Given the description of an element on the screen output the (x, y) to click on. 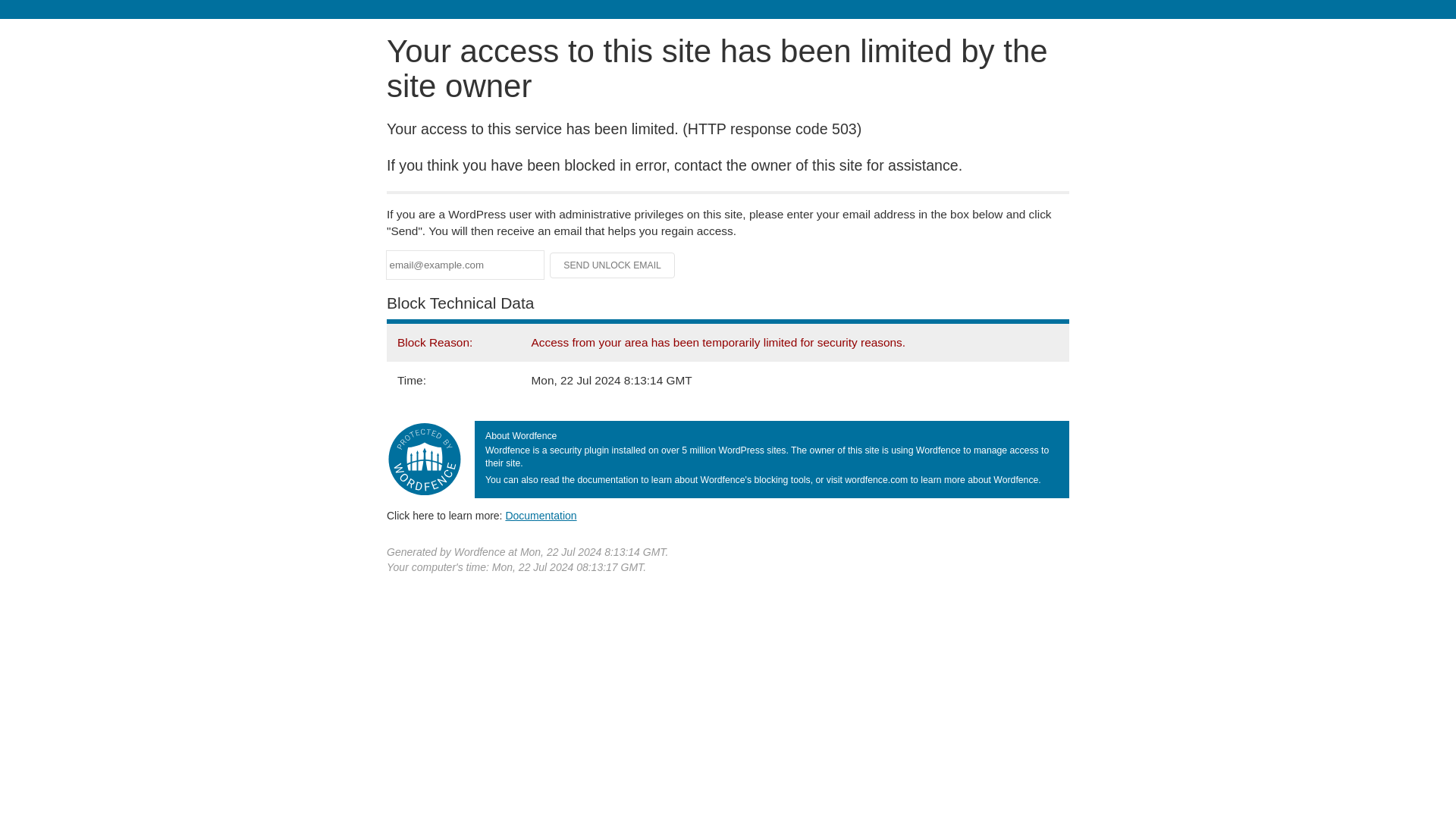
Send Unlock Email (612, 265)
Documentation (540, 515)
Send Unlock Email (612, 265)
